Given the description of an element on the screen output the (x, y) to click on. 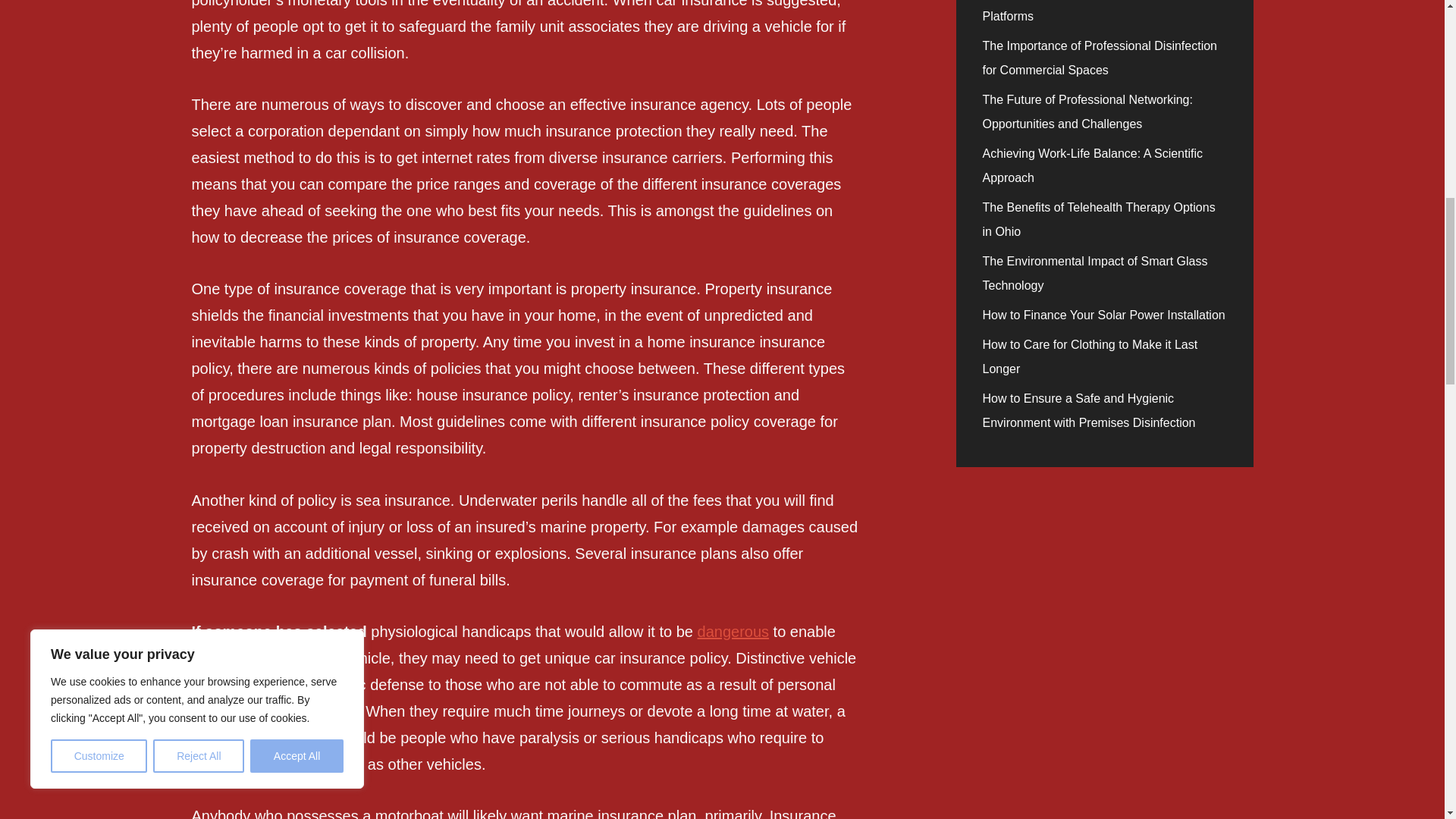
dangerous (733, 631)
